Given the description of an element on the screen output the (x, y) to click on. 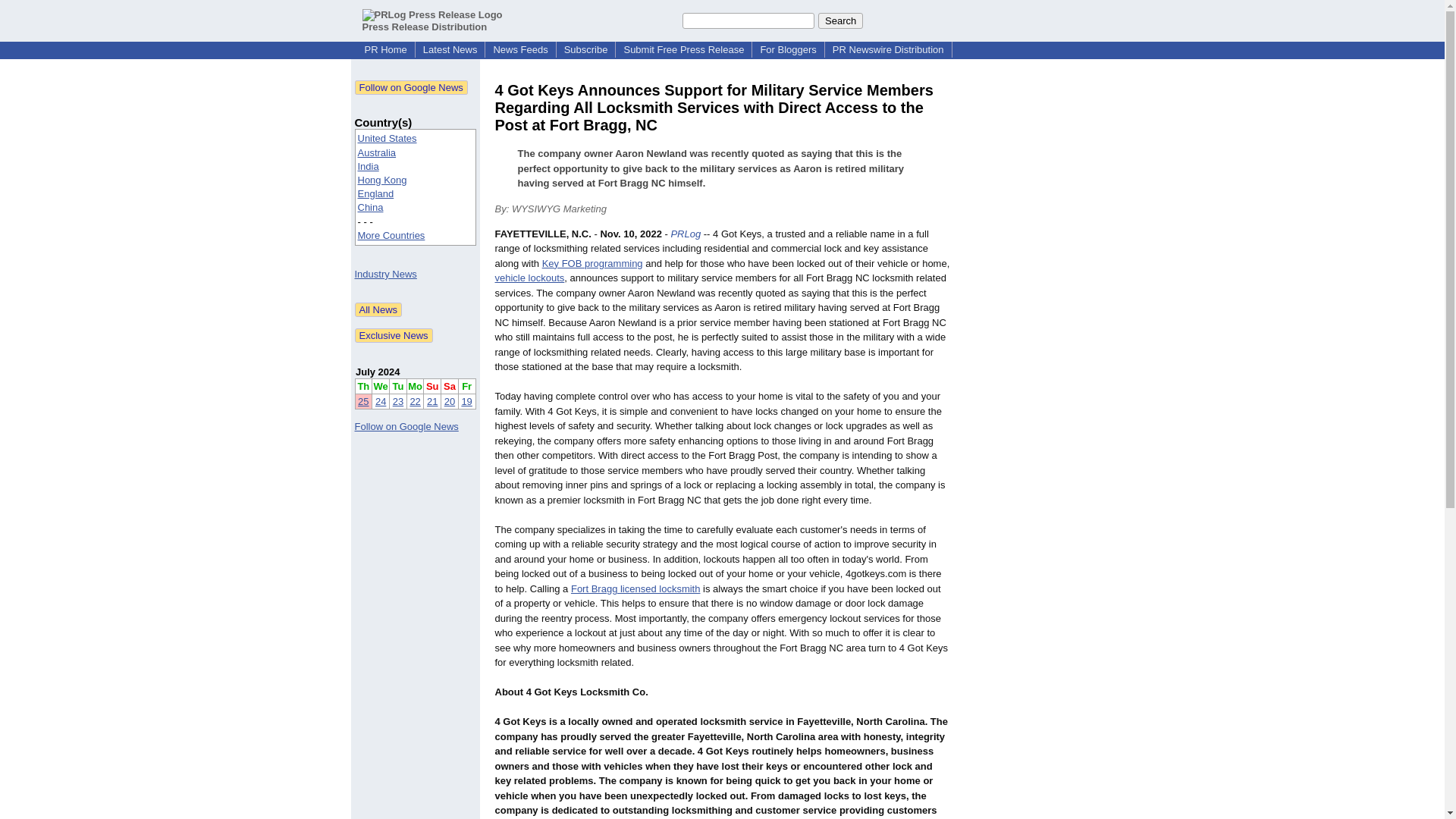
24 (380, 401)
Australia (377, 152)
More Countries (391, 235)
Key FOB programming (592, 263)
Fort Bragg licensed locksmith (635, 588)
Click on an option to filter or browse by that option (415, 186)
PRLog (684, 233)
21 (432, 401)
Press Release Distribution (432, 20)
22 (414, 401)
Submit Free Press Release (683, 49)
England (376, 193)
25 (363, 401)
July 2024 (377, 371)
Subscribe (585, 49)
